Given the description of an element on the screen output the (x, y) to click on. 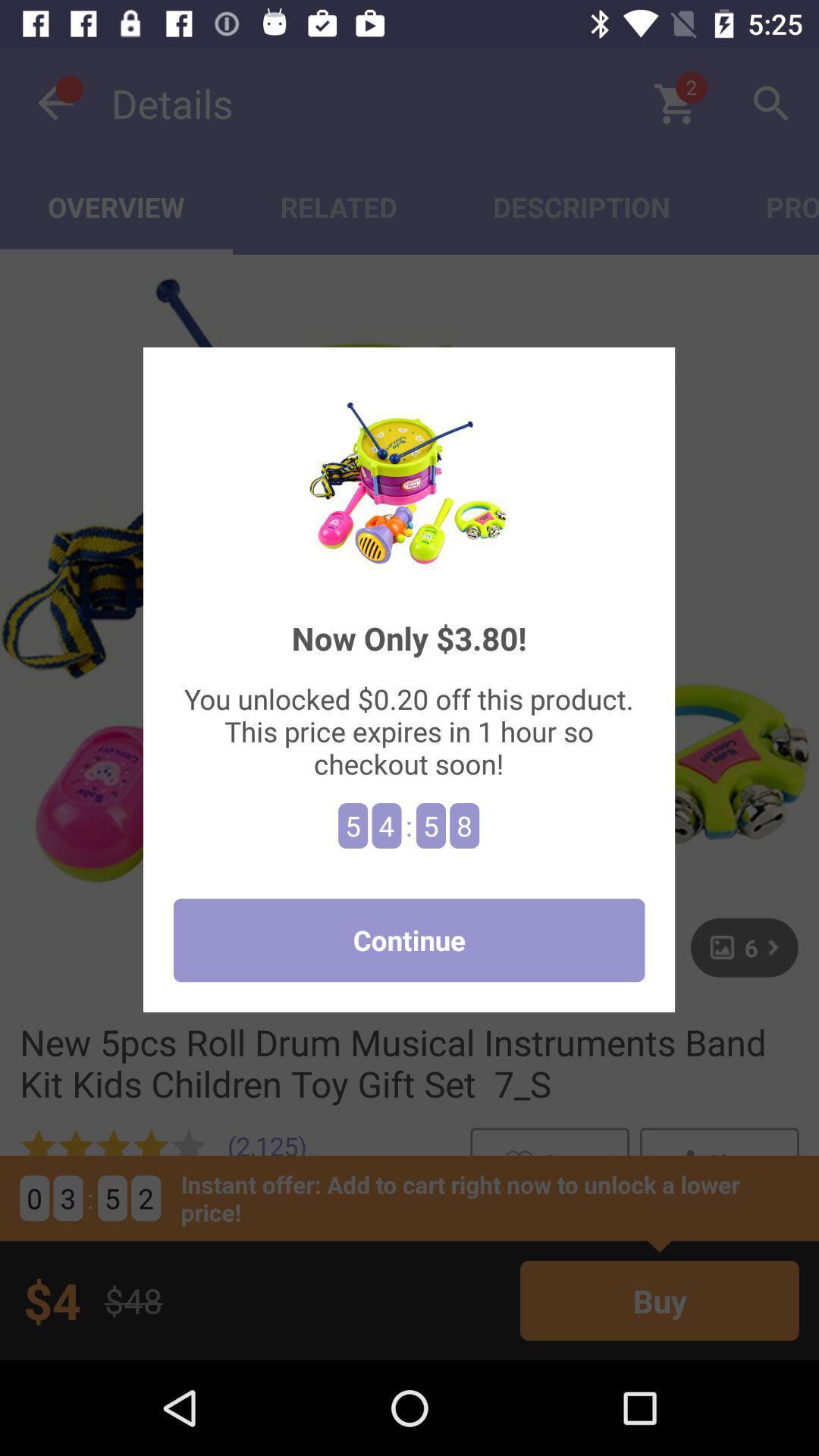
click the continue item (408, 940)
